Given the description of an element on the screen output the (x, y) to click on. 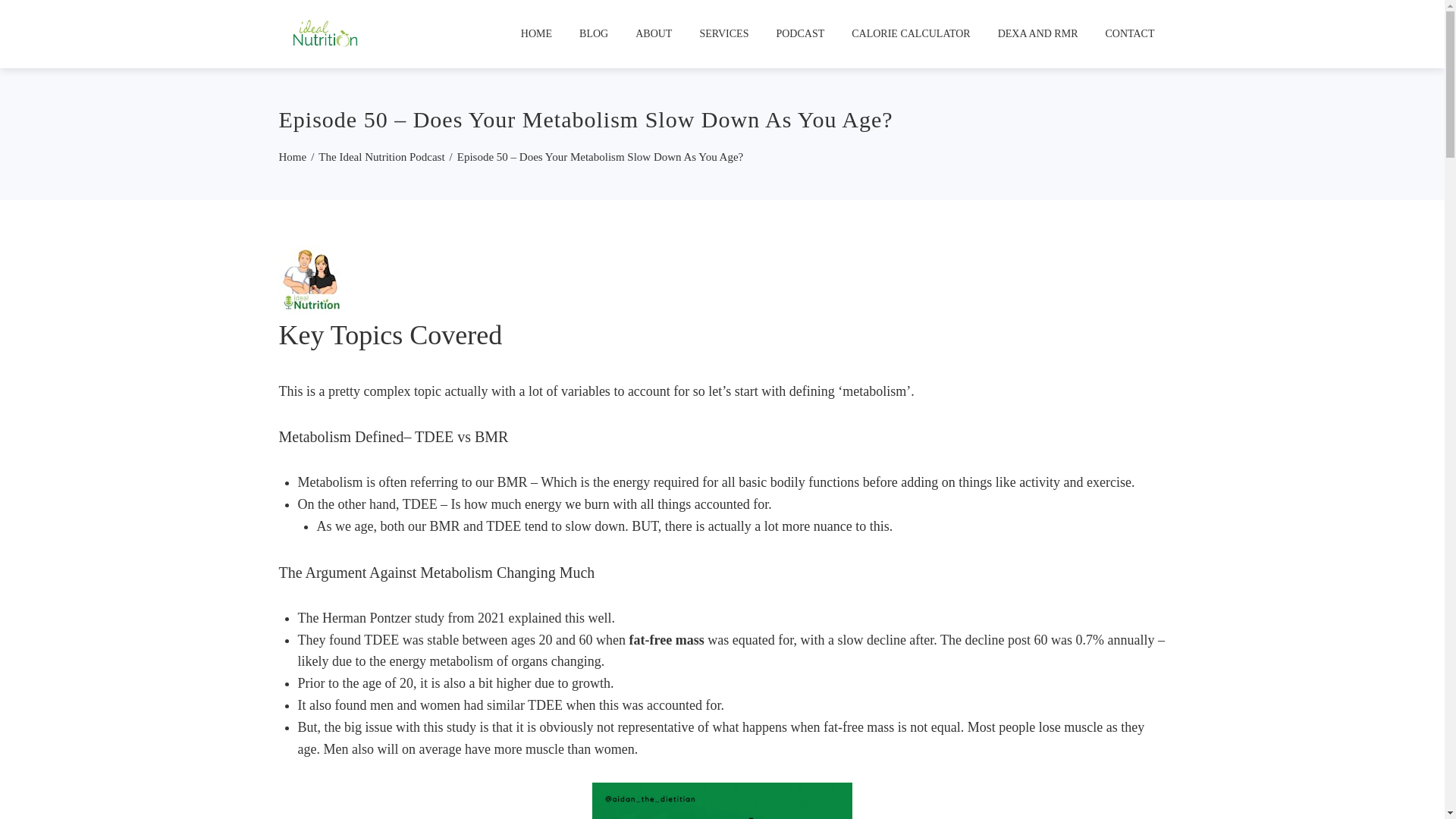
The Ideal Nutrition Podcast (381, 156)
HOME (536, 33)
CALORIE CALCULATOR (910, 33)
ABOUT (653, 33)
SERVICES (723, 33)
PODCAST (799, 33)
BLOG (593, 33)
Libsyn Player (722, 279)
Home (293, 156)
DEXA AND RMR (1038, 33)
CONTACT (1129, 33)
